Given the description of an element on the screen output the (x, y) to click on. 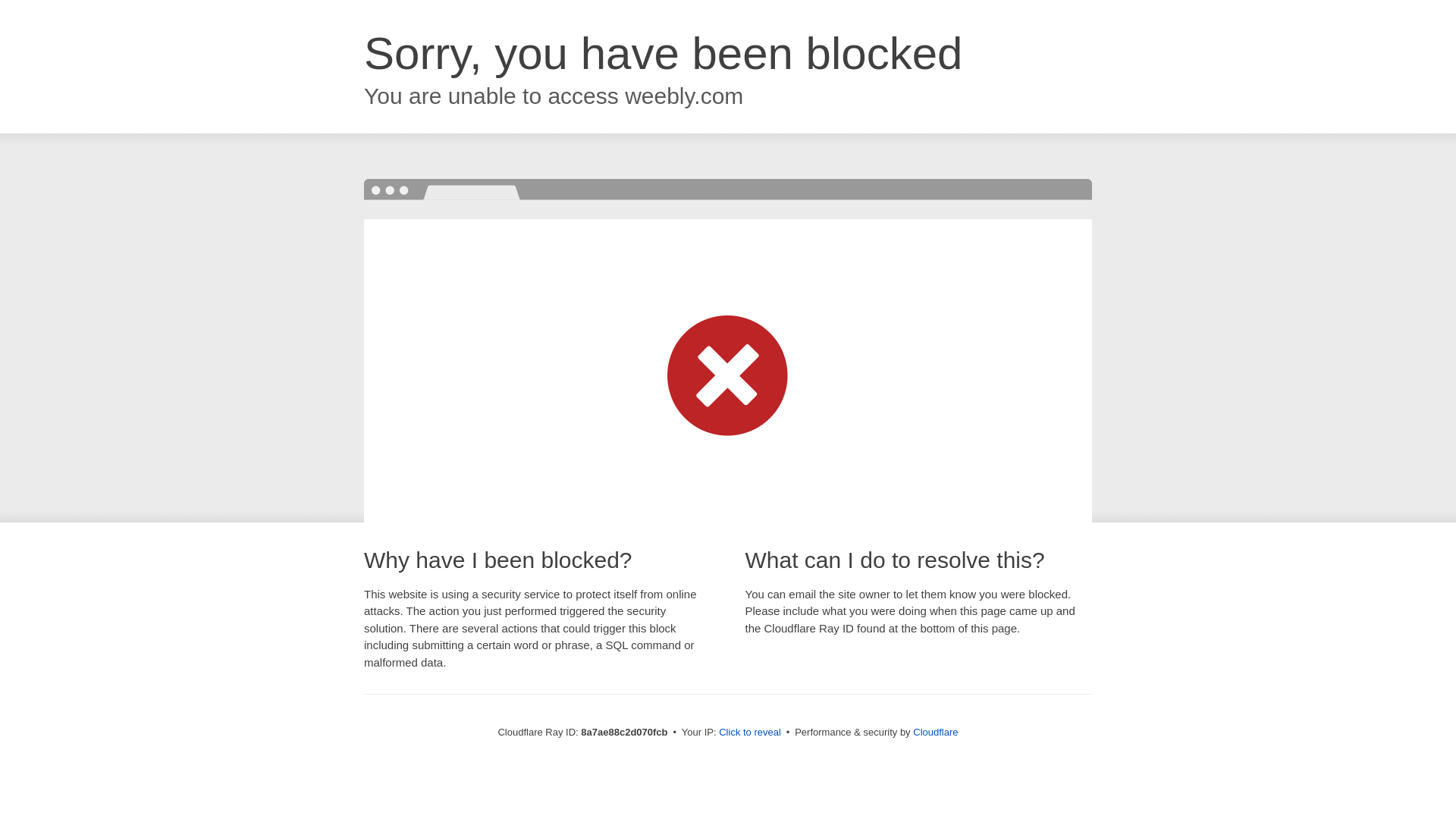
Cloudflare (935, 731)
Click to reveal (749, 732)
